Given the description of an element on the screen output the (x, y) to click on. 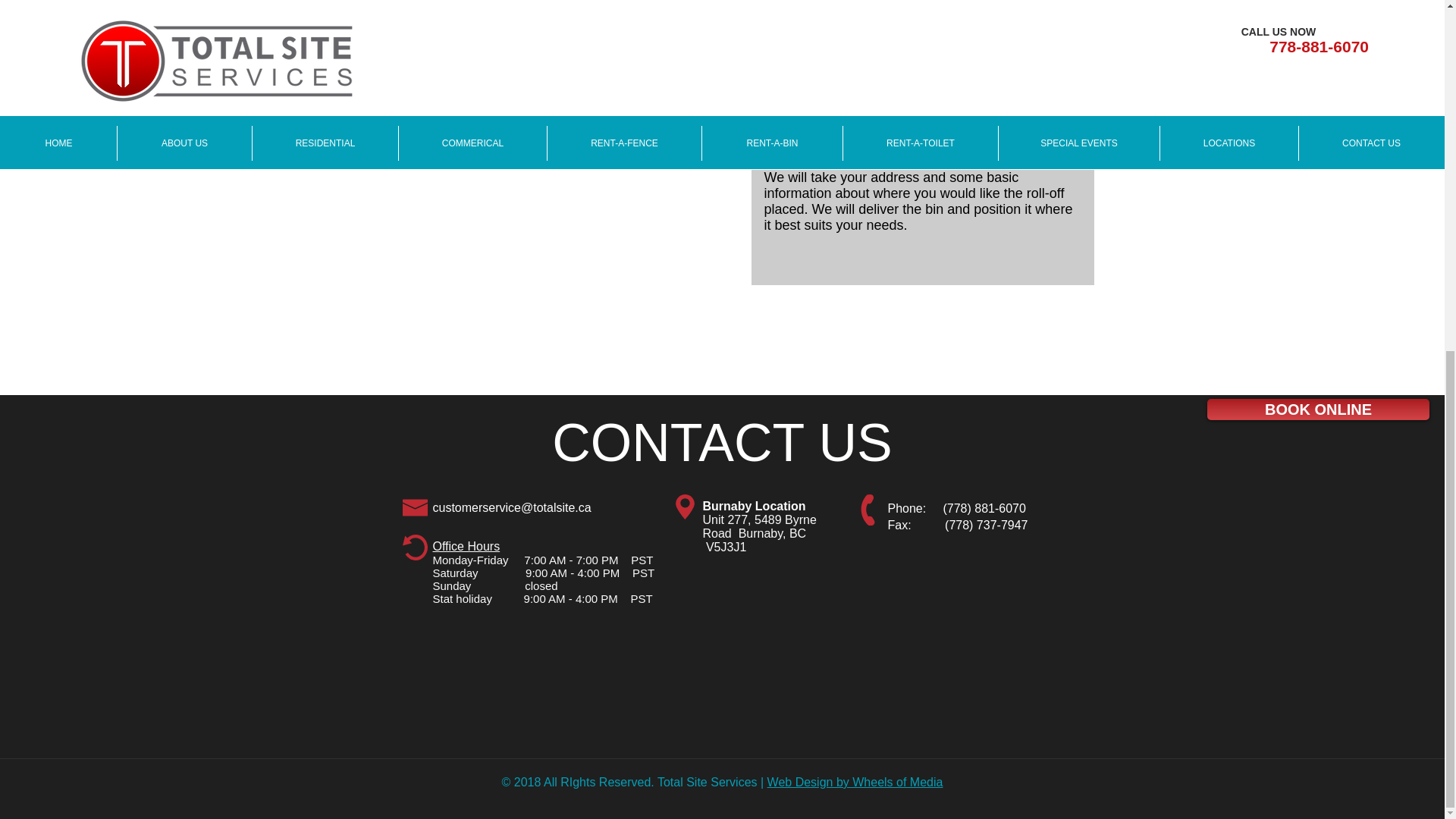
BOOK ONLINE (541, 45)
Web Design by Wheels of Media (855, 781)
